Given the description of an element on the screen output the (x, y) to click on. 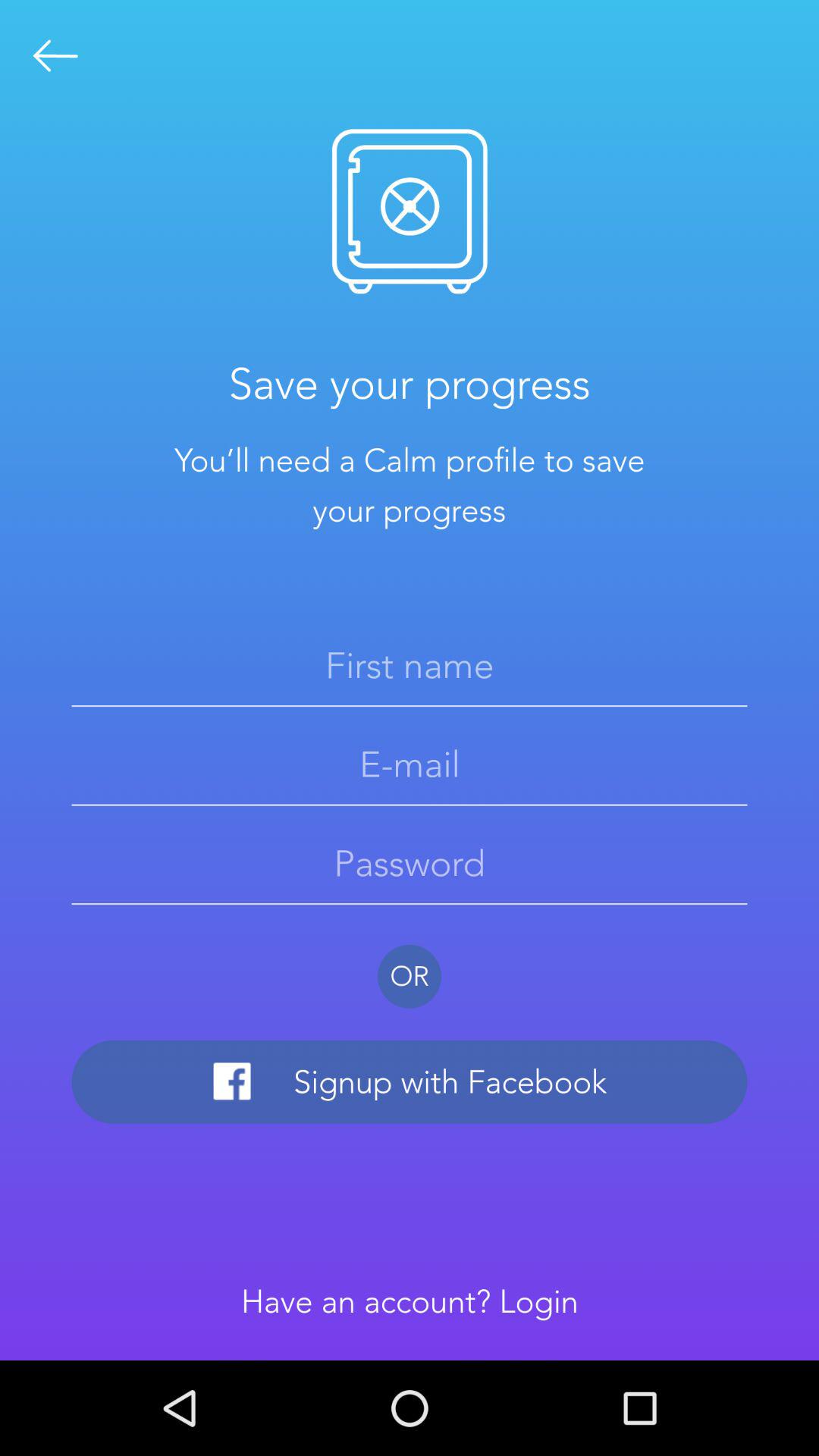
go back (55, 55)
